Given the description of an element on the screen output the (x, y) to click on. 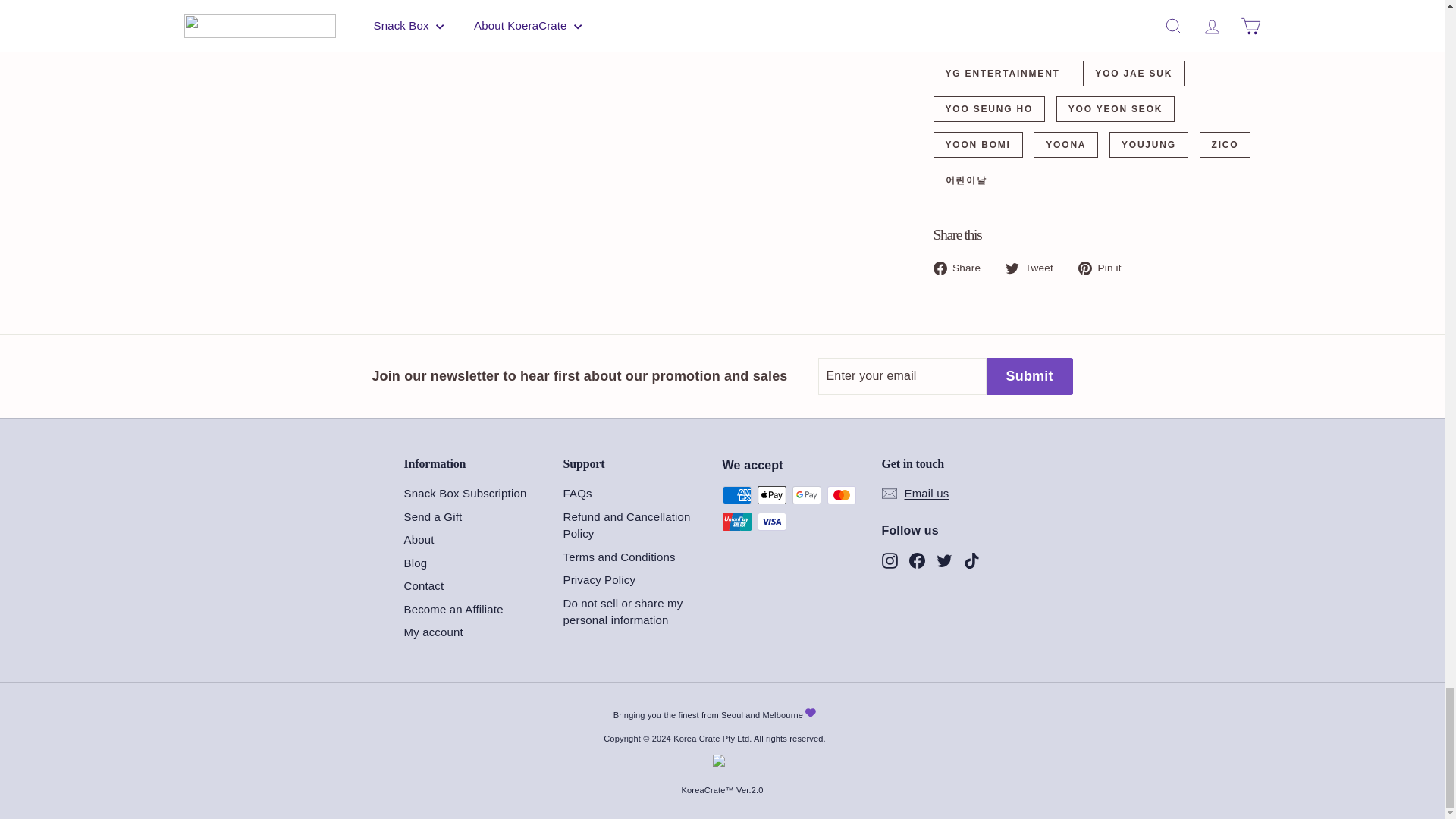
Google Pay (806, 495)
Visa (771, 521)
Union Pay (736, 521)
American Express (736, 495)
Tweet on Twitter (1035, 267)
instagram (888, 560)
twitter (944, 560)
KoreaCrate on Instagram (888, 559)
Mastercard (841, 495)
KoreaCrate on Facebook (916, 559)
KoreaCrate on Twitter (944, 559)
twitter (1012, 268)
Share on Facebook (962, 267)
Apple Pay (771, 495)
Pin on Pinterest (1105, 267)
